Given the description of an element on the screen output the (x, y) to click on. 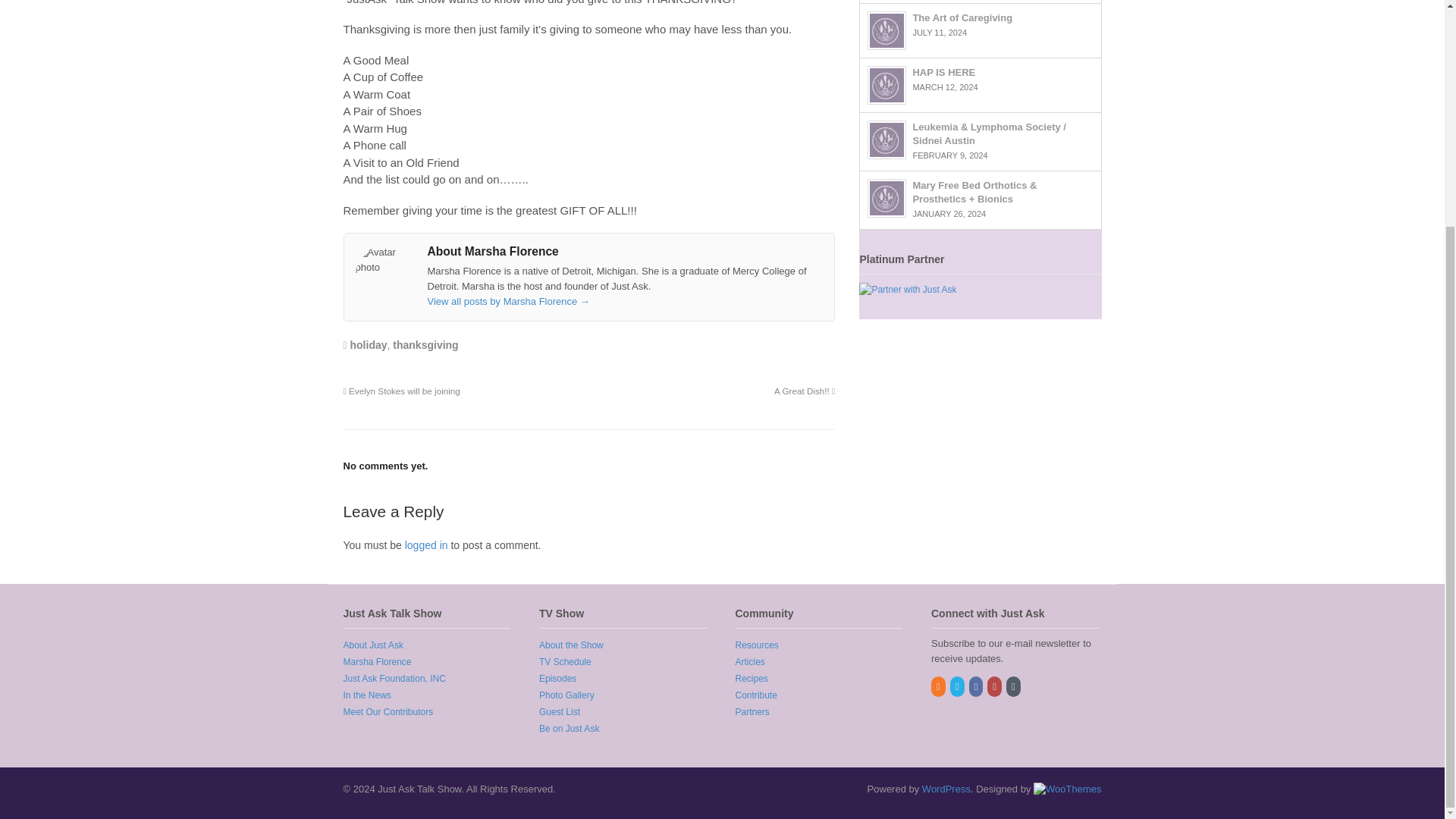
thanksgiving (425, 345)
HAP IS HERE (886, 85)
The Art of Caregiving (961, 17)
Evelyn Stokes will be joining (401, 390)
HAP IS HERE (943, 71)
logged in (426, 544)
holiday (368, 345)
The Art of Caregiving (886, 30)
A Great Dish!! (804, 390)
